Given the description of an element on the screen output the (x, y) to click on. 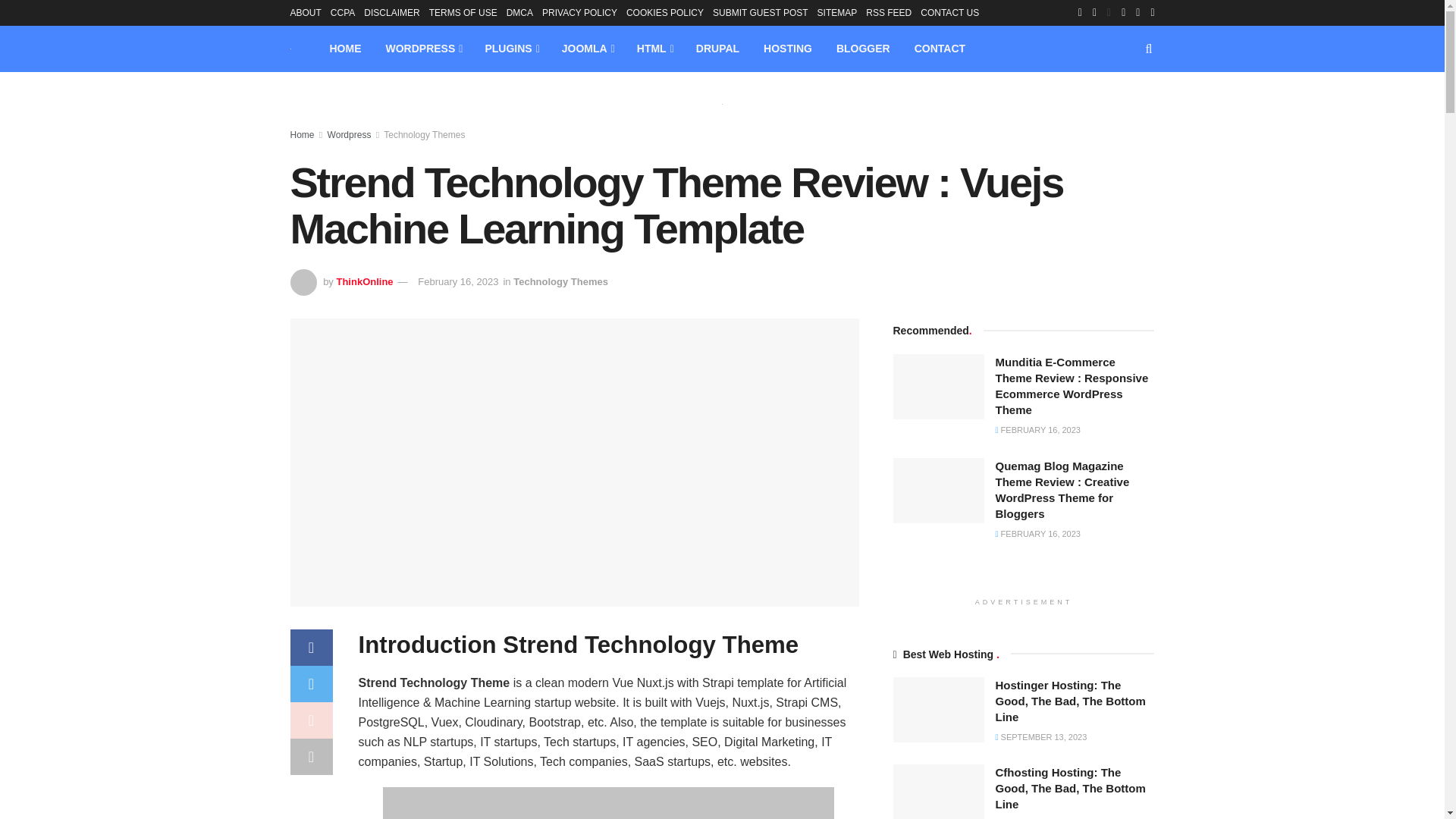
WORDPRESS (421, 48)
COOKIES POLICY (664, 12)
PLUGINS (509, 48)
CCPA (342, 12)
RSS FEED (888, 12)
ABOUT (304, 12)
SUBMIT GUEST POST (760, 12)
PRIVACY POLICY (579, 12)
DISCLAIMER (391, 12)
DMCA (519, 12)
TERMS OF USE (463, 12)
HOME (344, 48)
CONTACT US (949, 12)
SITEMAP (836, 12)
